Given the description of an element on the screen output the (x, y) to click on. 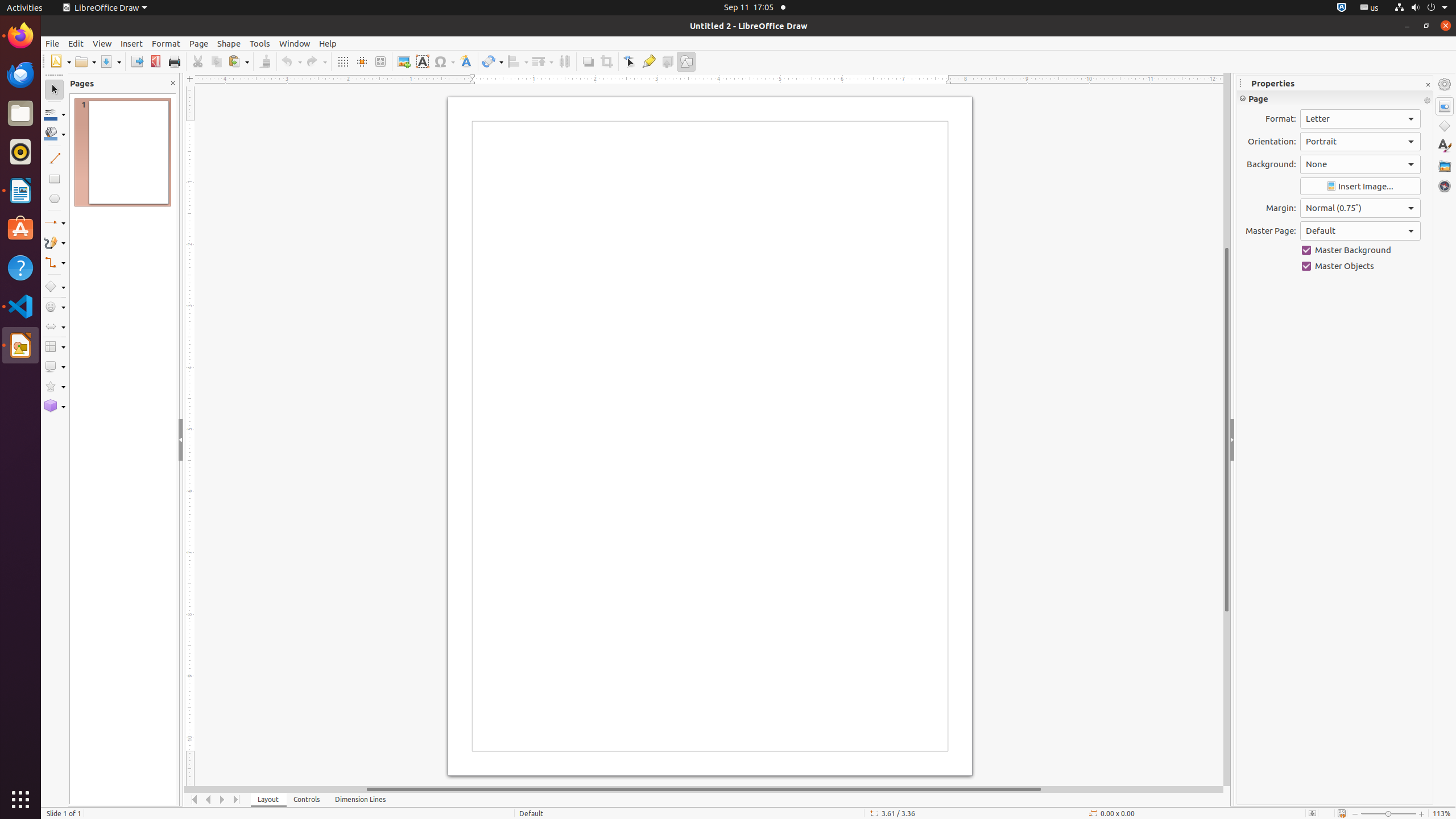
Master Objects Element type: check-box (1360, 265)
Copy Element type: push-button (216, 61)
Insert Element type: menu (131, 43)
Cut Element type: push-button (197, 61)
Grid Element type: toggle-button (342, 61)
